Given the description of an element on the screen output the (x, y) to click on. 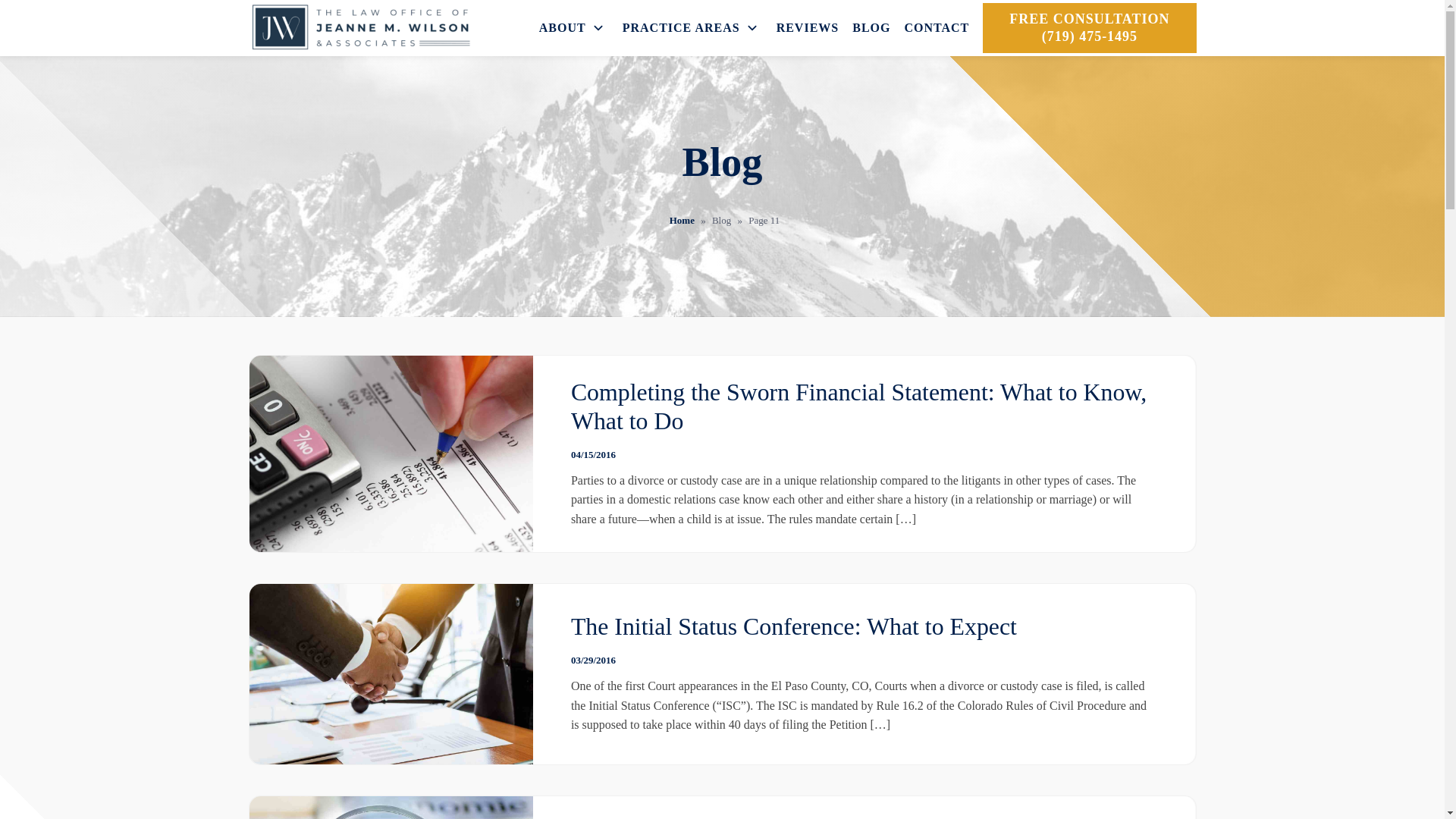
CONTACT (936, 27)
REVIEWS (808, 27)
ABOUT (573, 27)
BLOG (870, 27)
PRACTICE AREAS (692, 27)
